Given the description of an element on the screen output the (x, y) to click on. 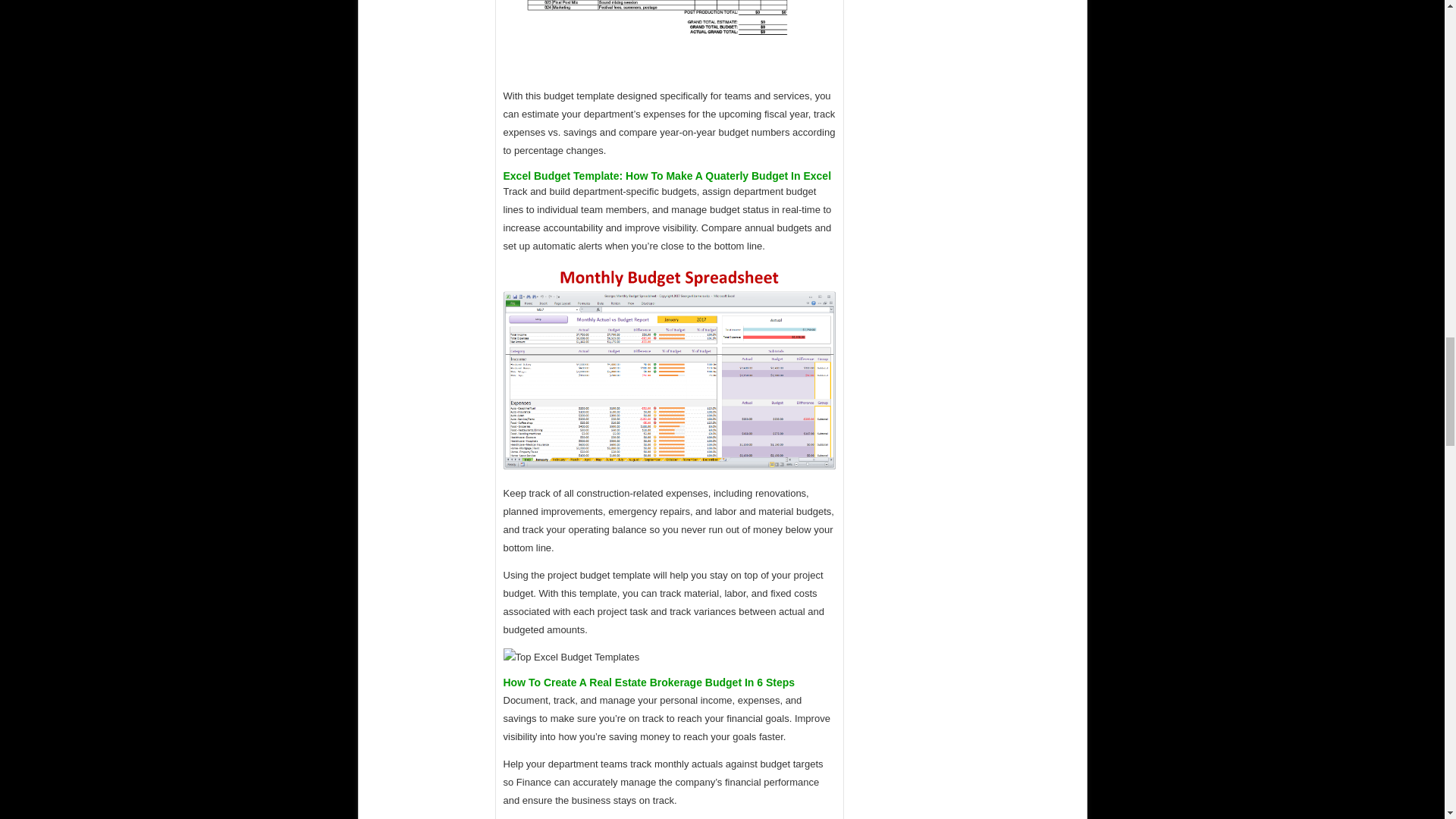
Top Excel Budget Templates (669, 367)
Top Excel Budget Templates (571, 657)
Top Excel Budget Templates (669, 36)
